Given the description of an element on the screen output the (x, y) to click on. 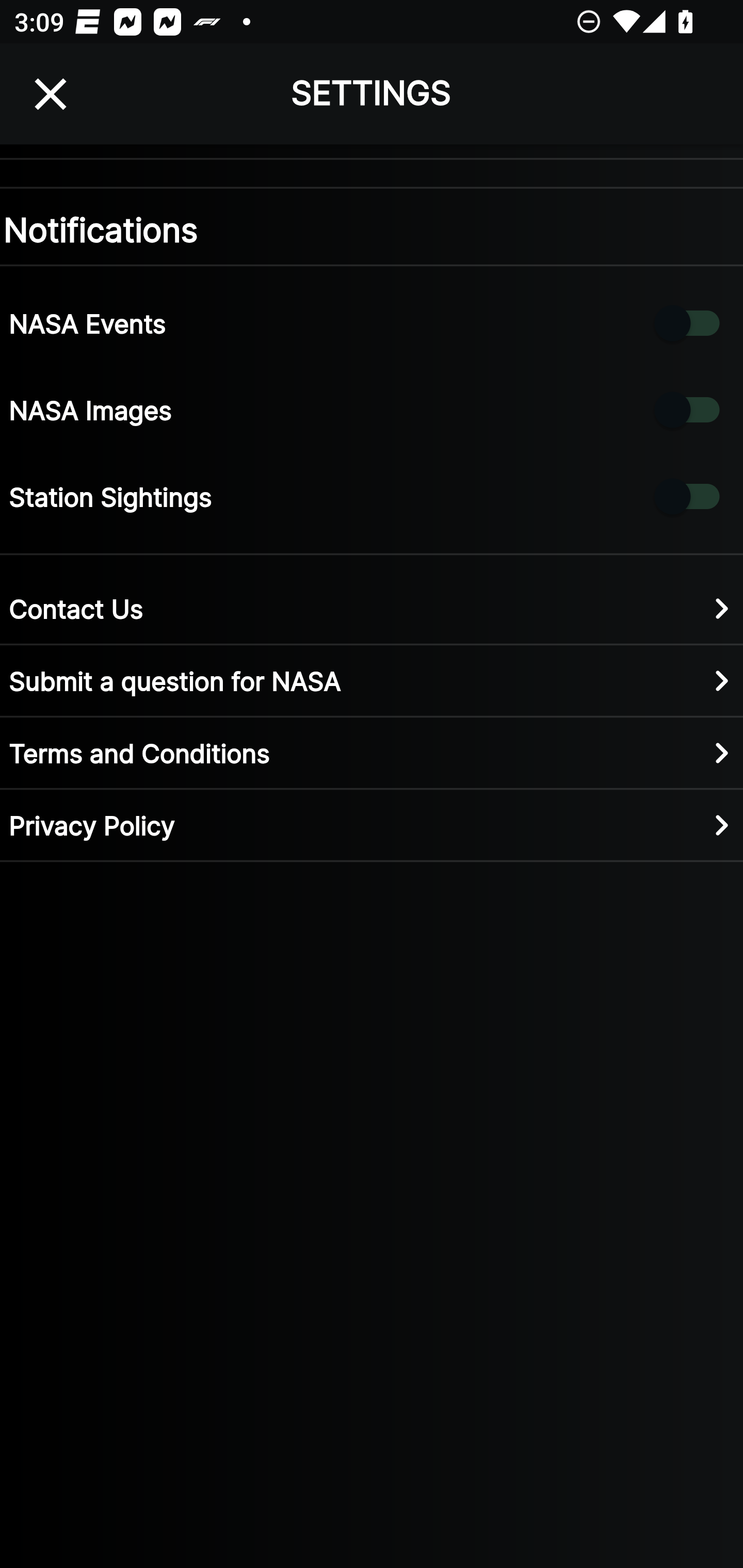
Contact Us (371, 608)
Submit a question for NASA (371, 680)
Terms and Conditions (371, 752)
Privacy Policy (371, 824)
